Given the description of an element on the screen output the (x, y) to click on. 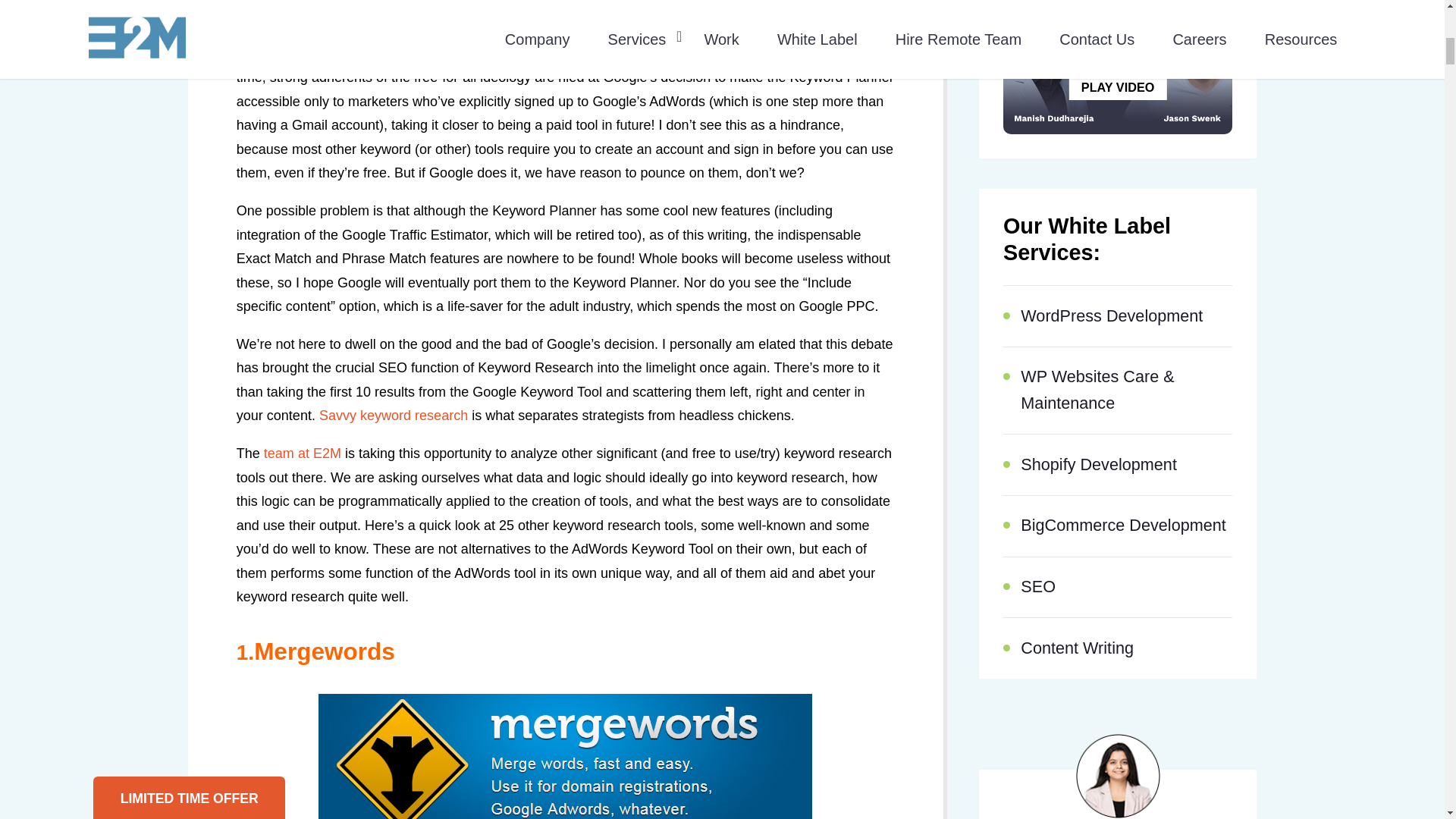
AdWords Keyword Tool going away (592, 30)
Get coupon code (150, 327)
E2M Solutions (301, 454)
